Given the description of an element on the screen output the (x, y) to click on. 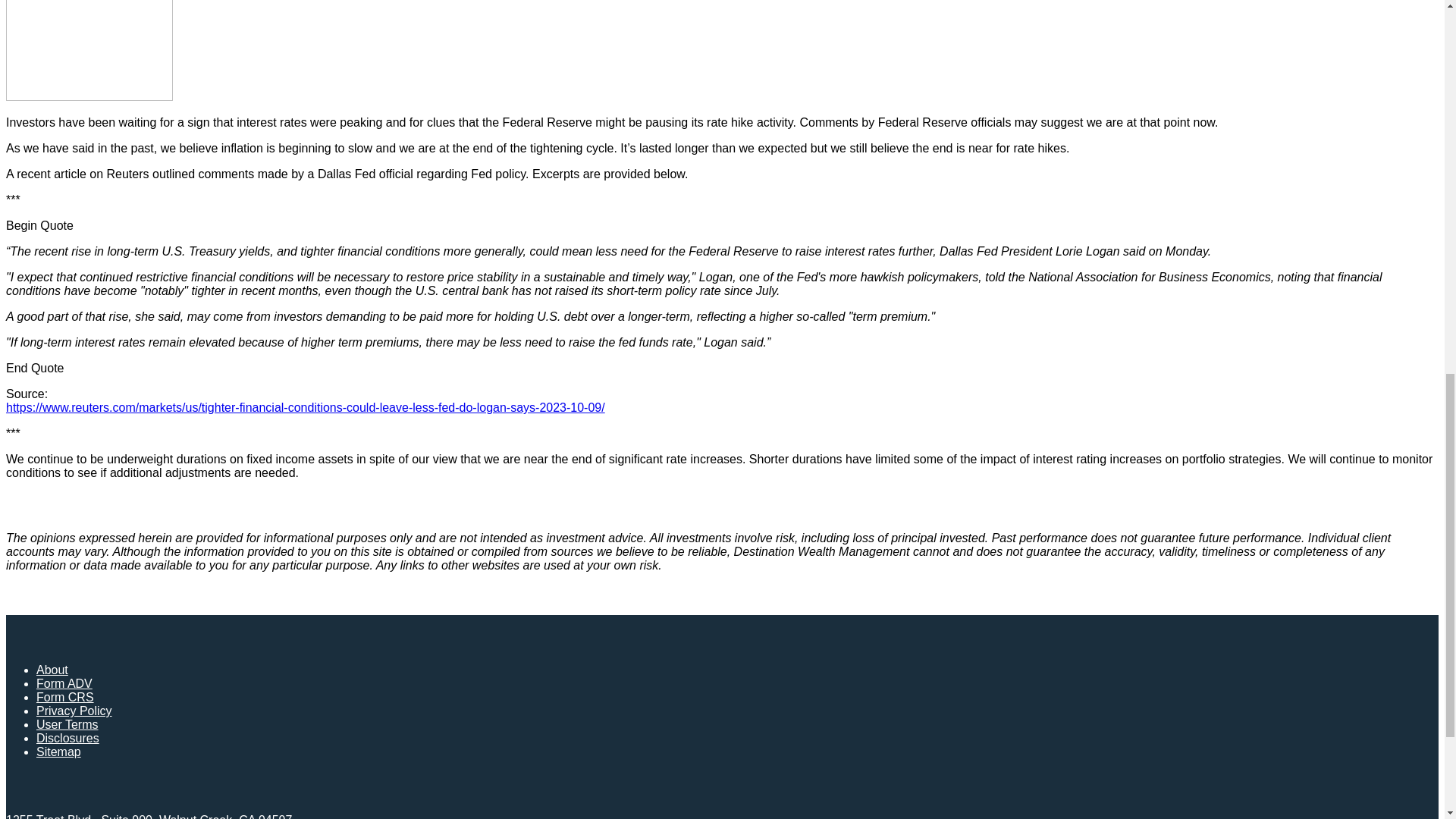
About (52, 669)
Form ADV (64, 683)
Form CRS (65, 697)
